Given the description of an element on the screen output the (x, y) to click on. 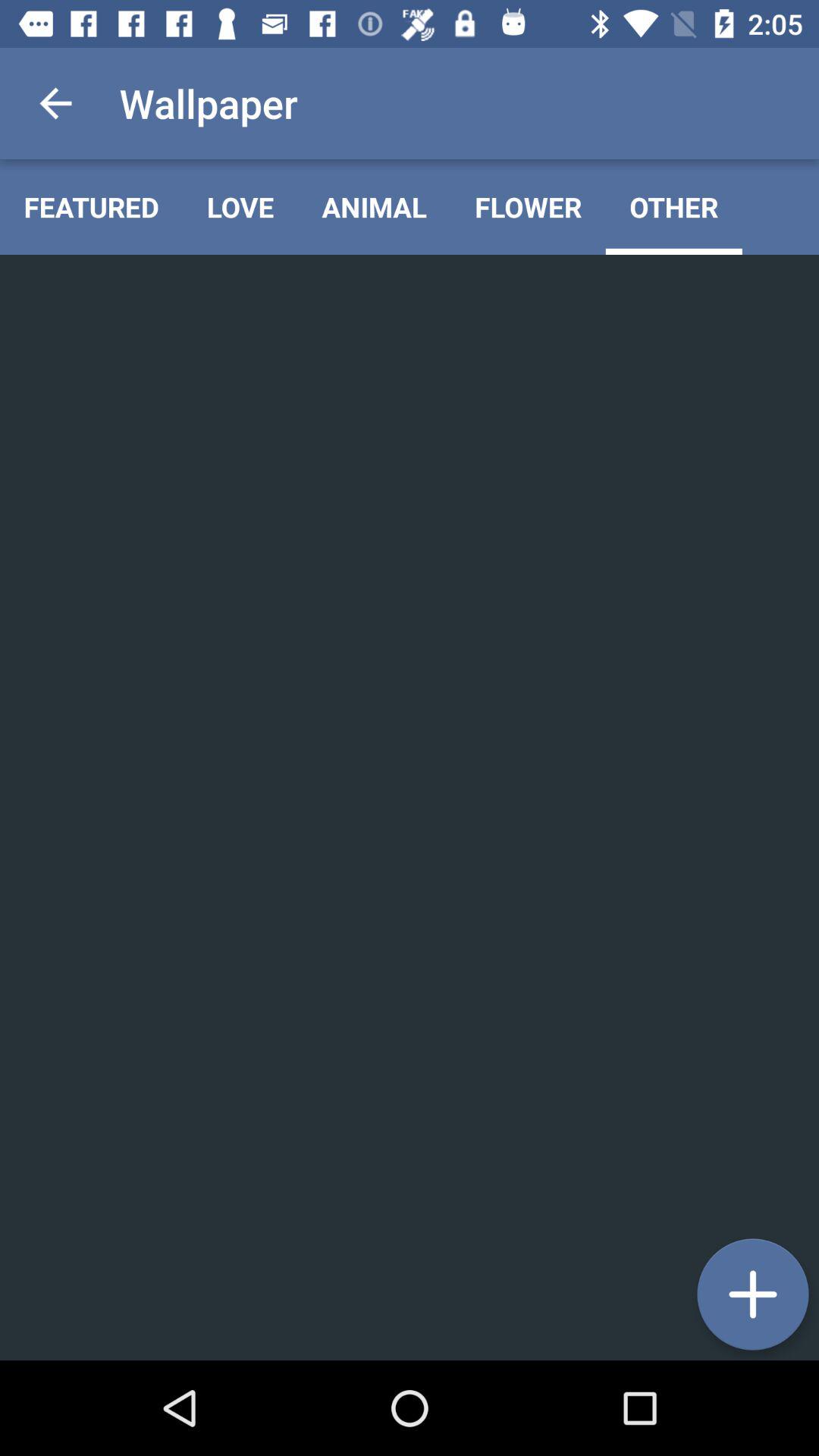
tap icon next to the animal (240, 206)
